Given the description of an element on the screen output the (x, y) to click on. 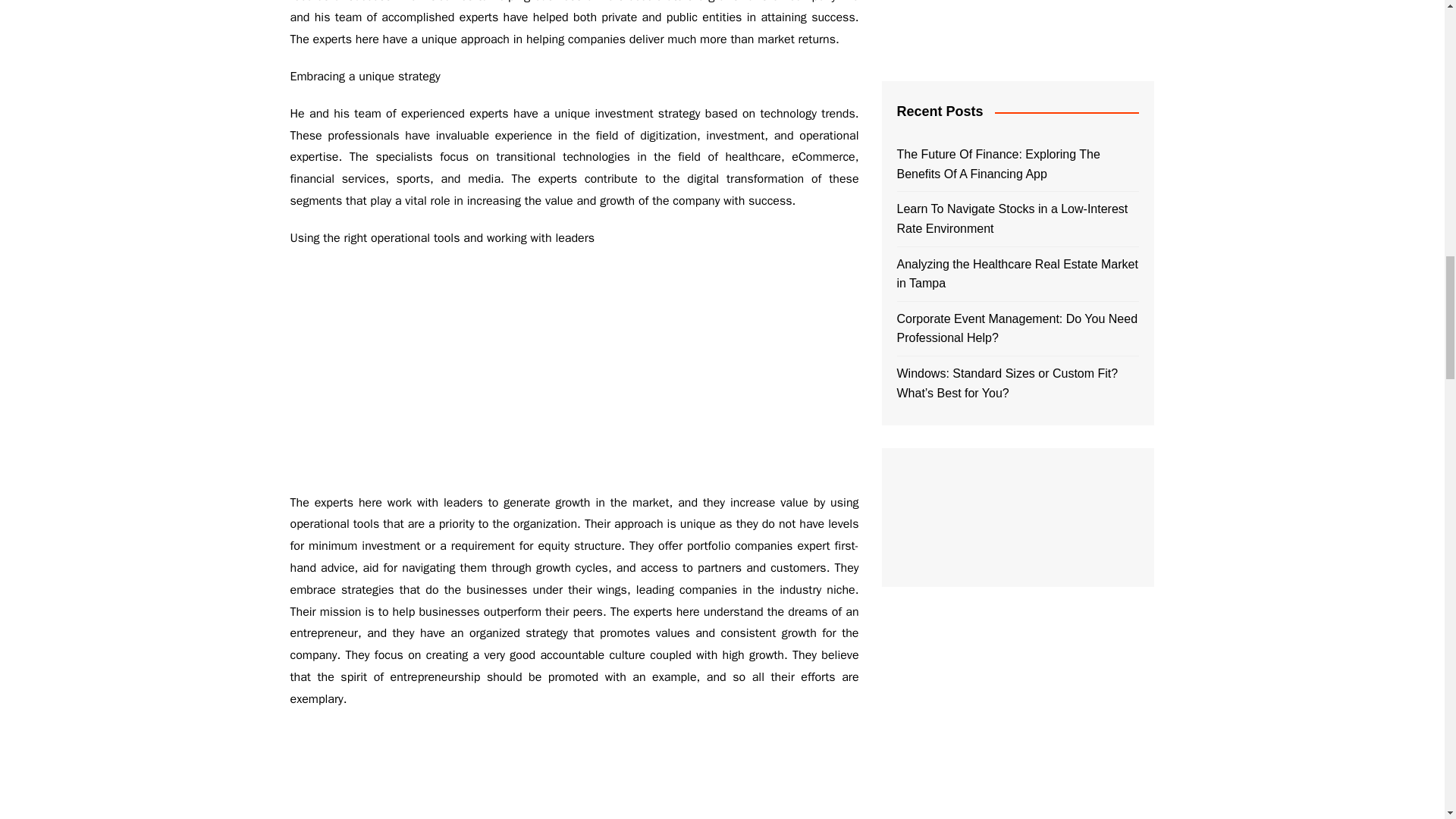
Advertisement (1017, 701)
Advertisement (574, 370)
Advertisement (574, 772)
Advertisement (1017, 29)
